Given the description of an element on the screen output the (x, y) to click on. 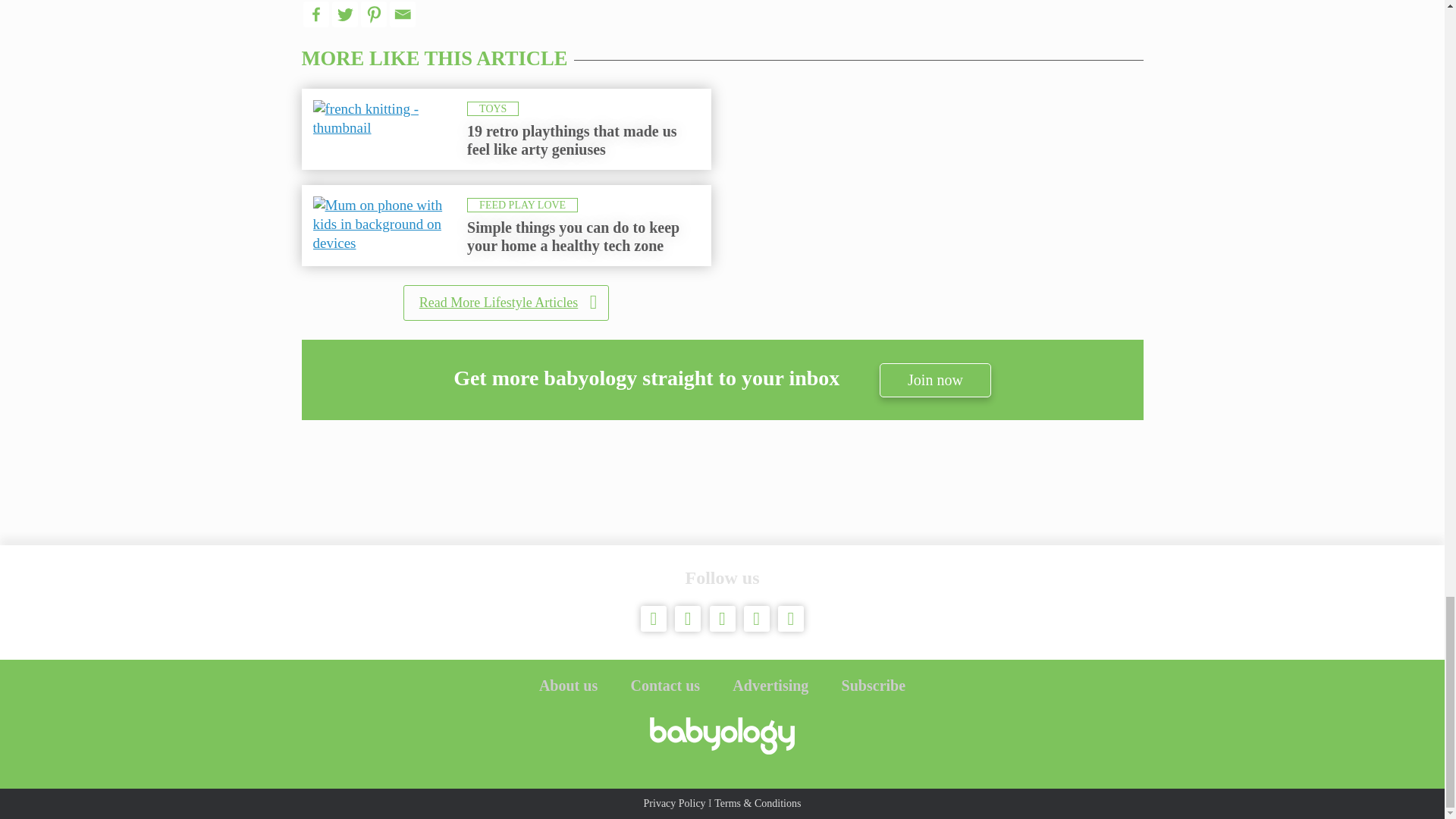
Facebook (315, 14)
Twitter (344, 14)
